Given the description of an element on the screen output the (x, y) to click on. 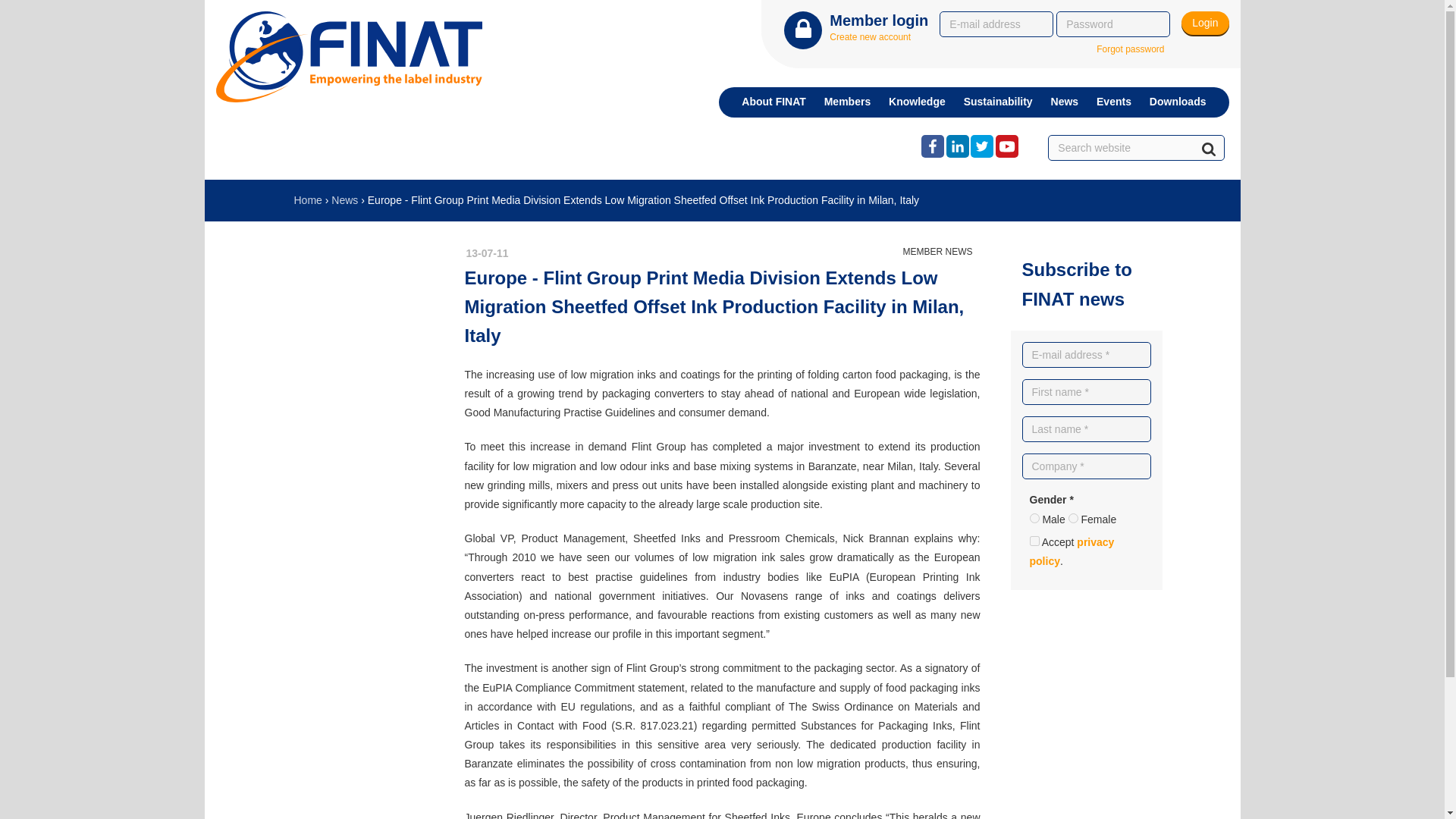
Create new account (870, 36)
Login (1204, 23)
man (1034, 518)
Forgot password (1129, 49)
1 (1034, 541)
vrouw (1073, 518)
